Given the description of an element on the screen output the (x, y) to click on. 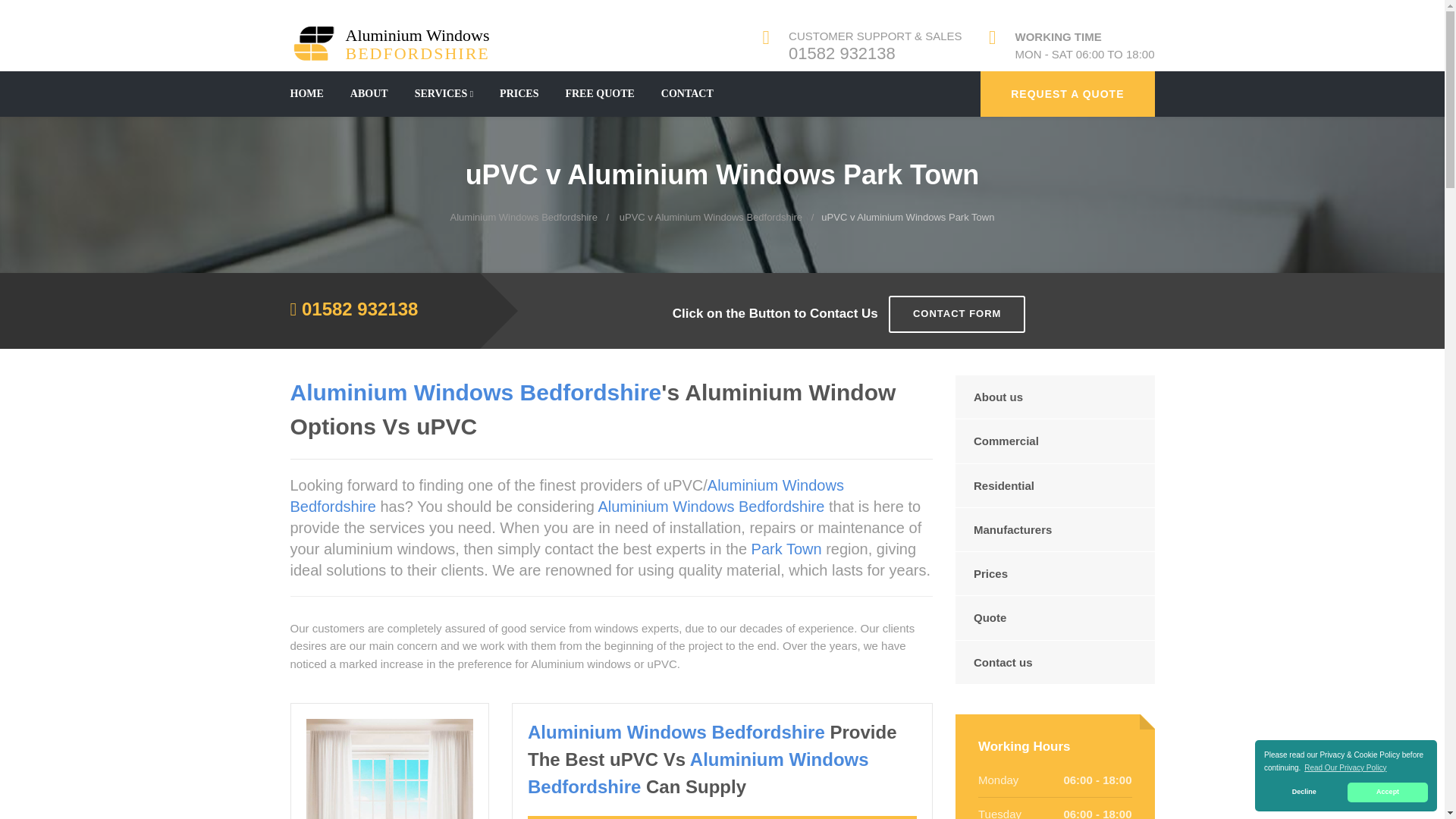
01582 932138 (842, 53)
Decline (395, 43)
Read Our Privacy Policy (1303, 792)
FREE QUOTE (1345, 767)
CONTACT (598, 94)
Accept (687, 94)
Aluminium Windows Bedfordshire (1388, 792)
REQUEST A QUOTE (522, 216)
SERVICES (1066, 94)
Aluminium Windows Bedfordshire (443, 94)
